Given the description of an element on the screen output the (x, y) to click on. 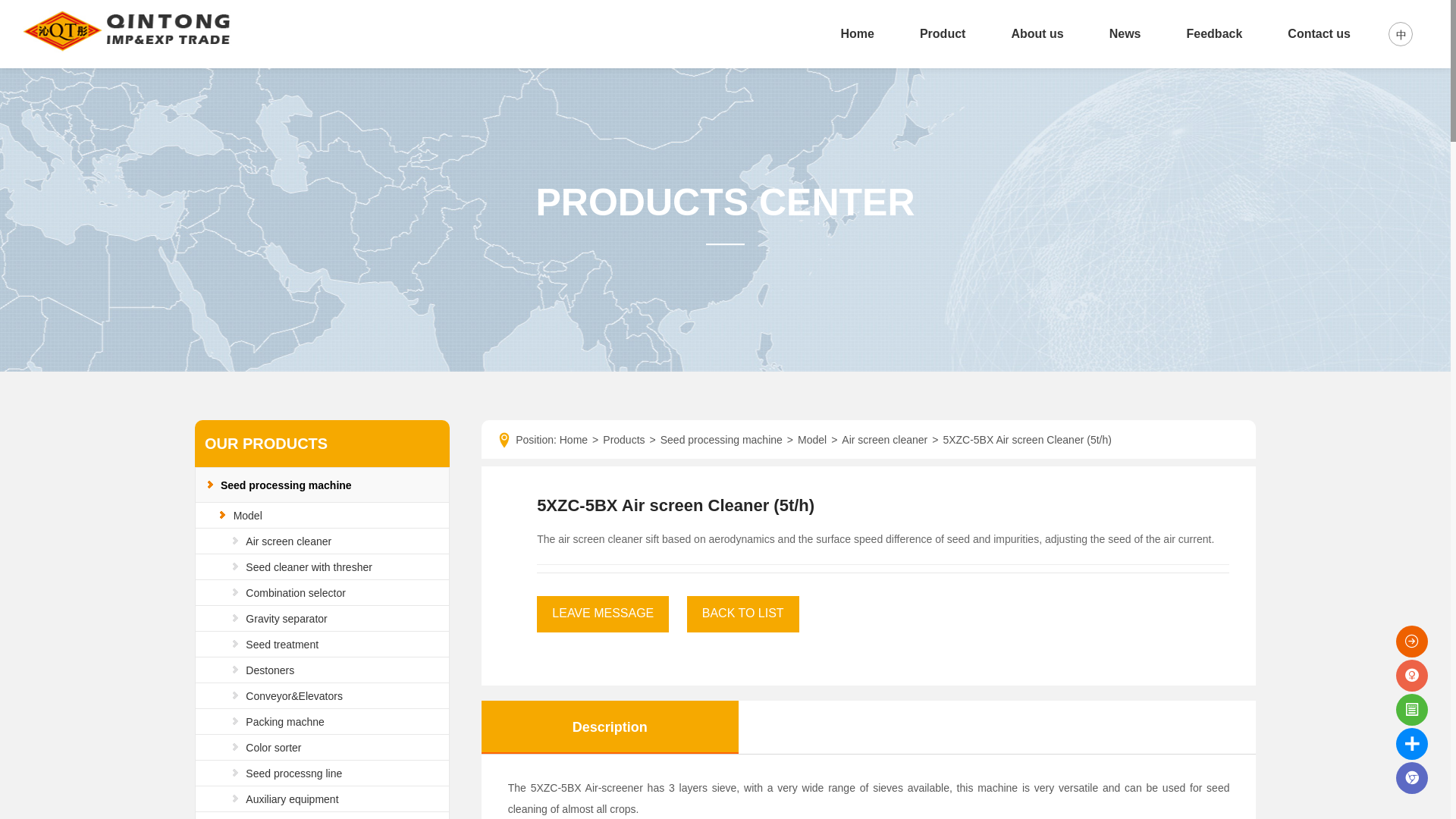
Gravity separator (286, 618)
Contact us (1319, 33)
Seed treatment (282, 644)
Destoners (270, 670)
Seed processing machine (286, 485)
Combination selector (296, 592)
Color sorter (273, 747)
Auxiliary equipment (291, 799)
Air screen cleaner (288, 541)
Packing machne (285, 721)
